Given the description of an element on the screen output the (x, y) to click on. 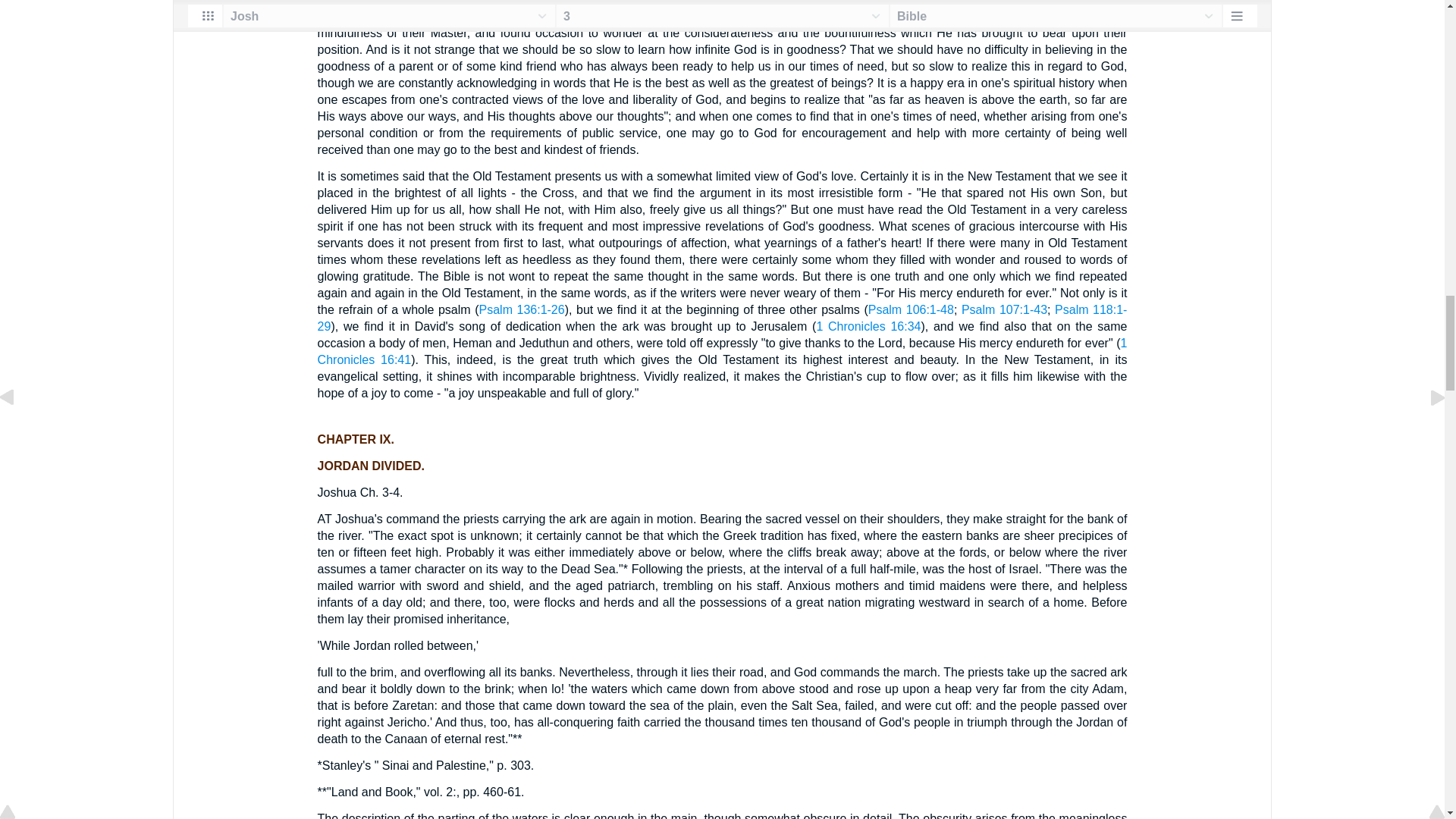
1 Chronicles 16:41 (721, 351)
Psalm 118:1-29 (721, 317)
Psalm 106:1-48 (910, 309)
Psalm 136:1-26 (521, 309)
Psalm 107:1-43 (1003, 309)
1 Chronicles 16:34 (867, 326)
